Given the description of an element on the screen output the (x, y) to click on. 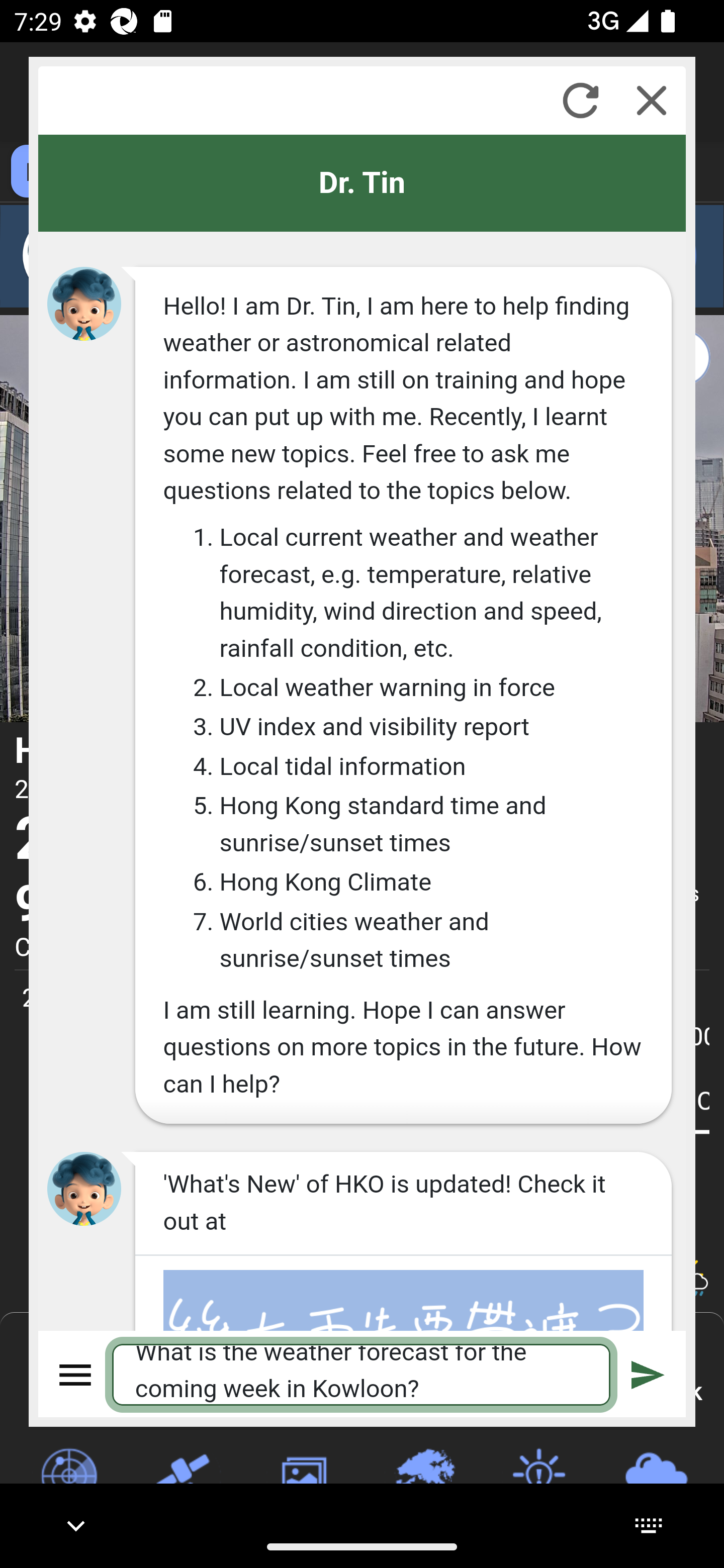
Refresh (580, 100)
Close (651, 100)
Menu (75, 1374)
Submit (648, 1374)
